Given the description of an element on the screen output the (x, y) to click on. 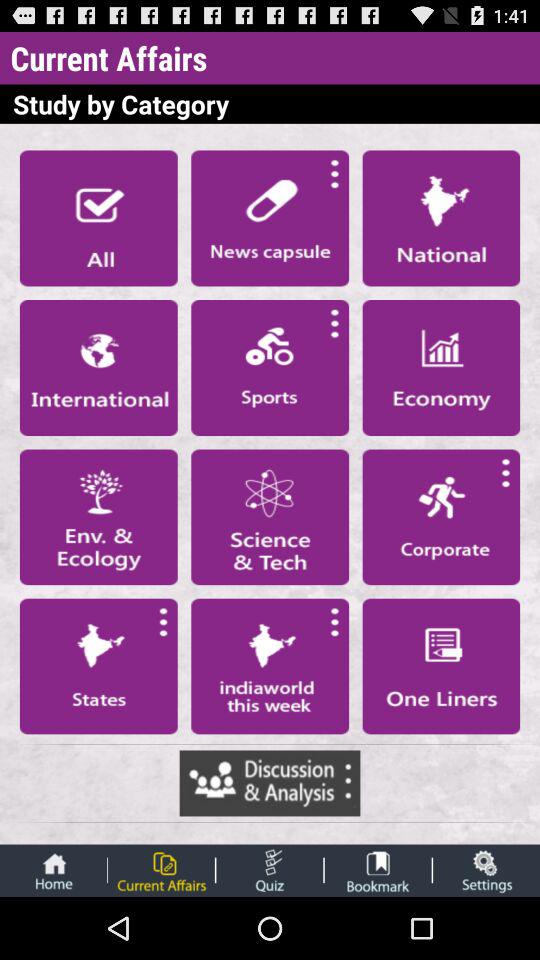
opens the indiaworld this week category (270, 666)
